Given the description of an element on the screen output the (x, y) to click on. 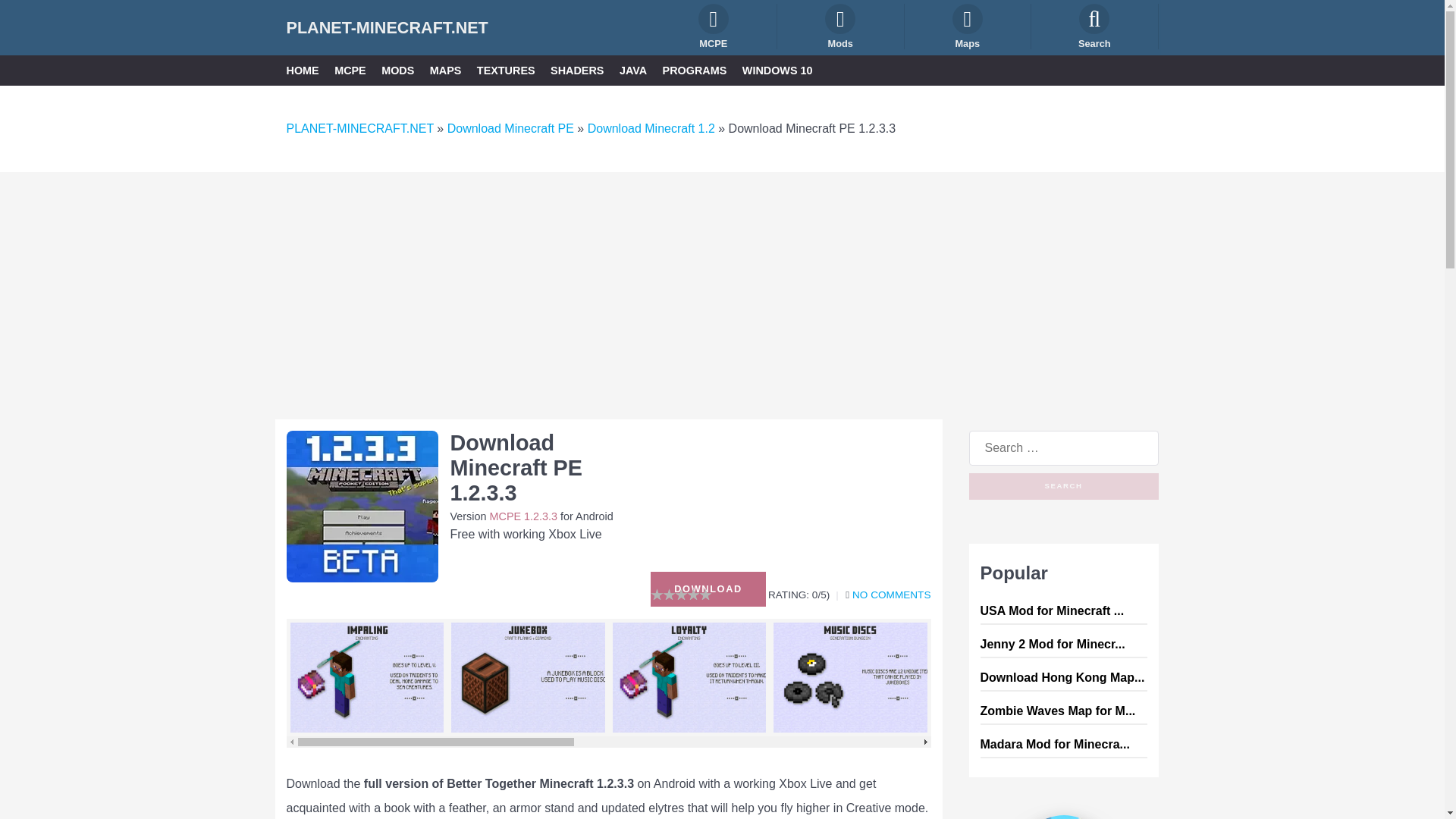
Maps (967, 26)
Download Minecraft 1.2 (651, 128)
PLANET-MINECRAFT.NET (359, 128)
JAVA (633, 70)
Search (1063, 486)
TEXTURES (506, 70)
Search (1063, 486)
NO COMMENTS (890, 594)
MCPE (713, 26)
Mods (840, 26)
SHADERS (577, 70)
PLANET-MINECRAFT.NET (386, 27)
0 (890, 594)
MCPE (350, 70)
